Given the description of an element on the screen output the (x, y) to click on. 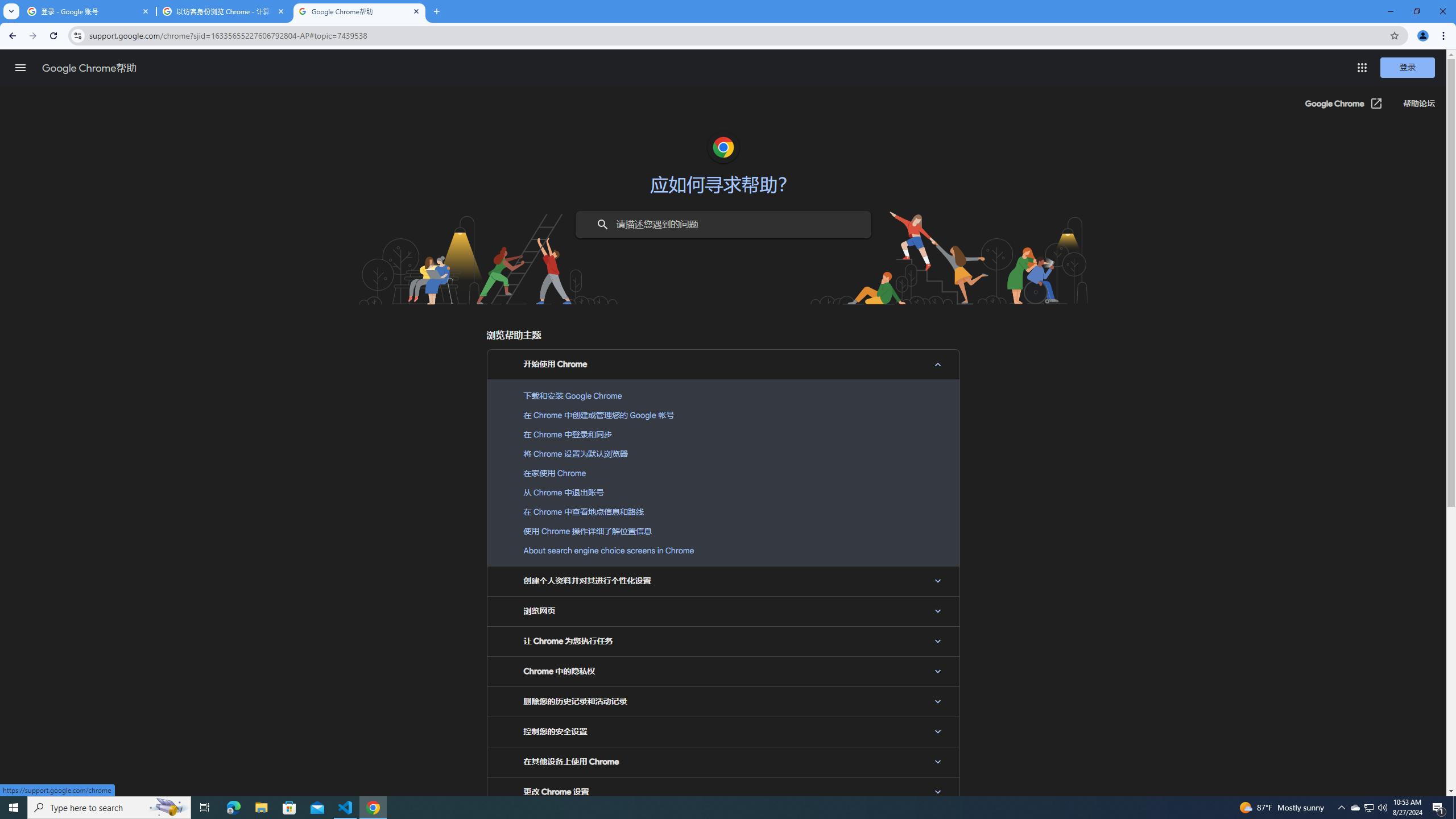
About search engine choice screens in Chrome (722, 550)
